Given the description of an element on the screen output the (x, y) to click on. 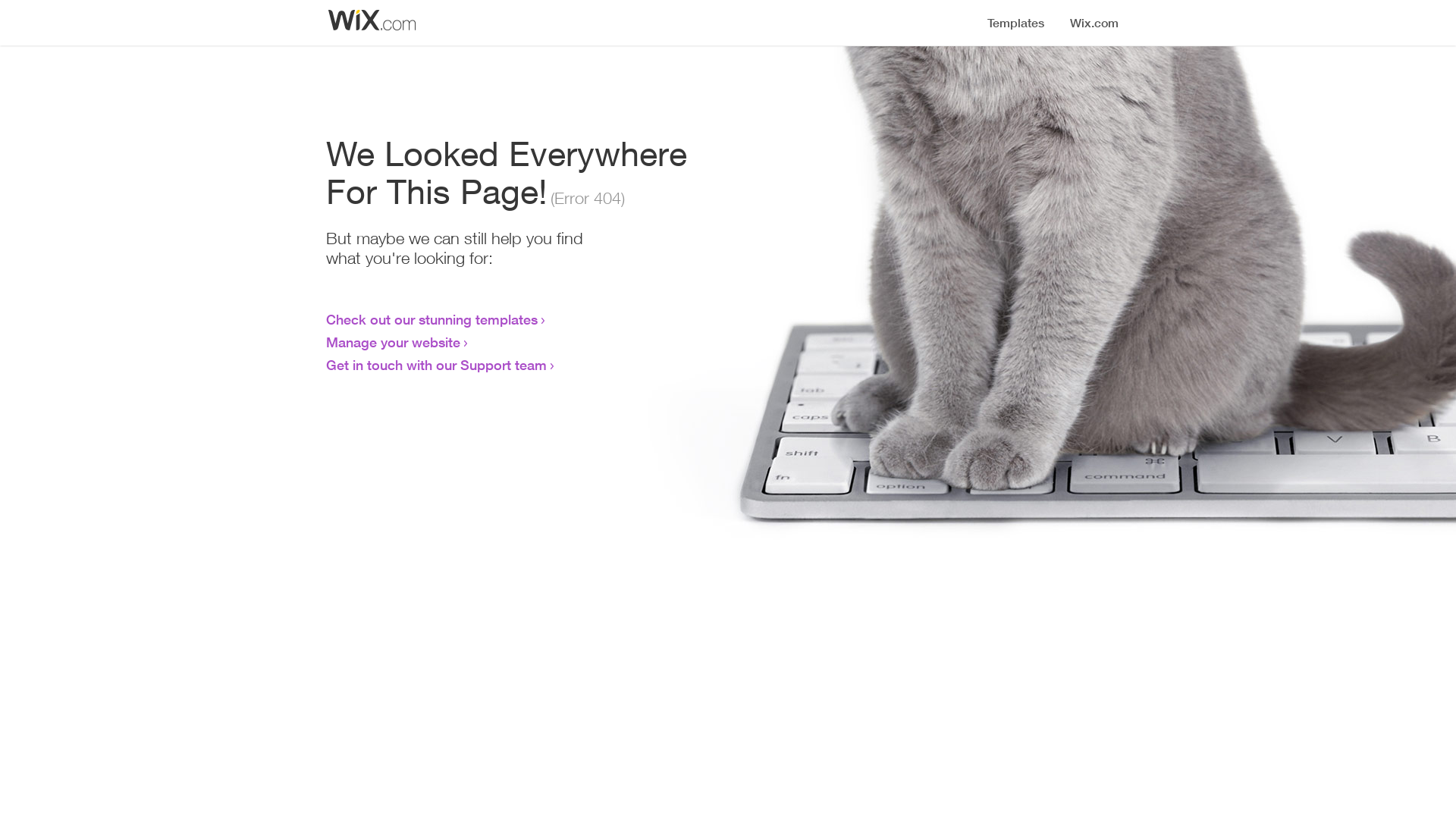
Check out our stunning templates Element type: text (431, 318)
Manage your website Element type: text (393, 341)
Get in touch with our Support team Element type: text (436, 364)
